Given the description of an element on the screen output the (x, y) to click on. 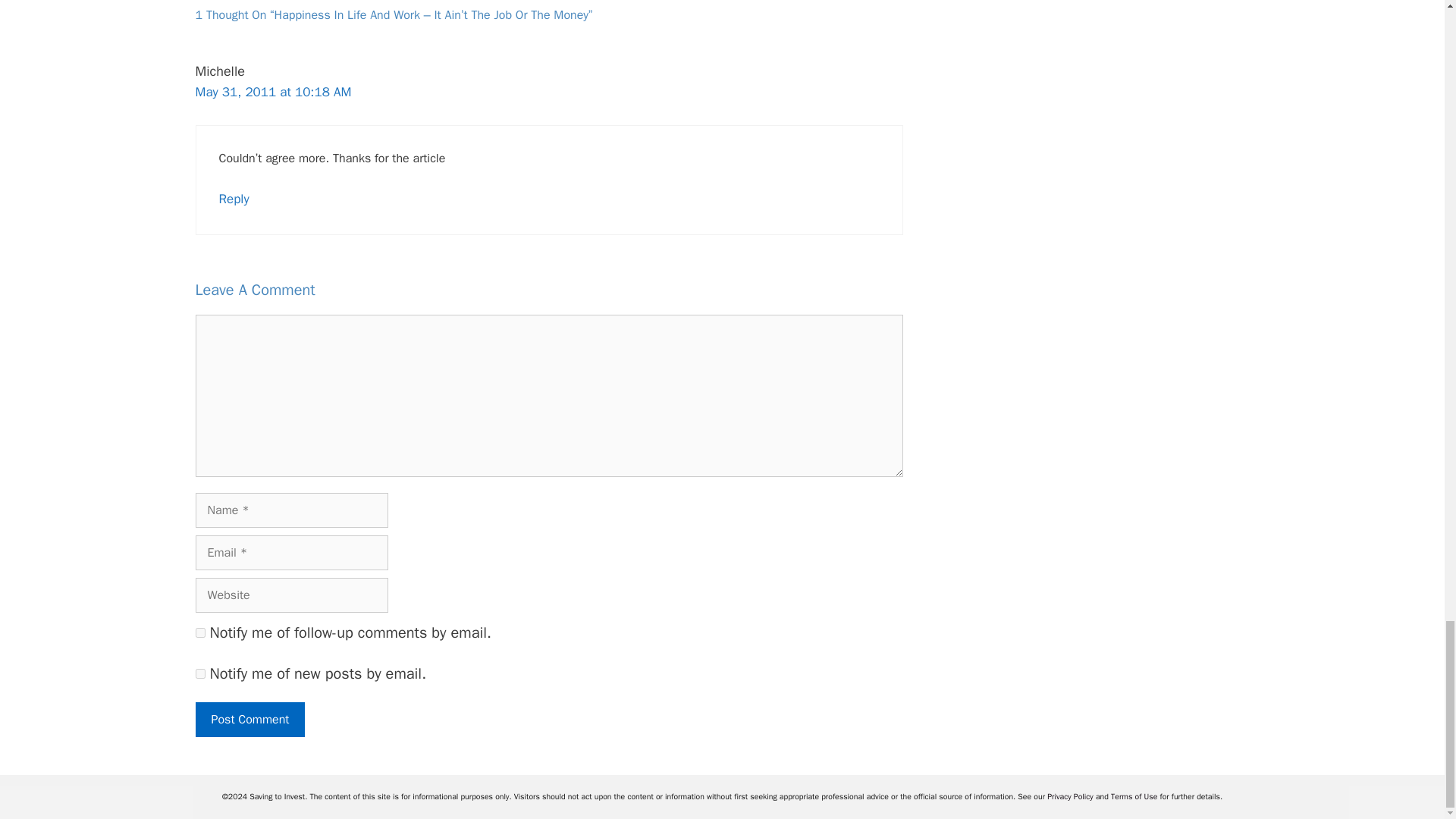
subscribe (200, 633)
Post Comment (250, 719)
Privacy Policy (1071, 796)
May 31, 2011 at 10:18 AM (273, 91)
Reply (233, 198)
Post Comment (250, 719)
subscribe (200, 673)
